Given the description of an element on the screen output the (x, y) to click on. 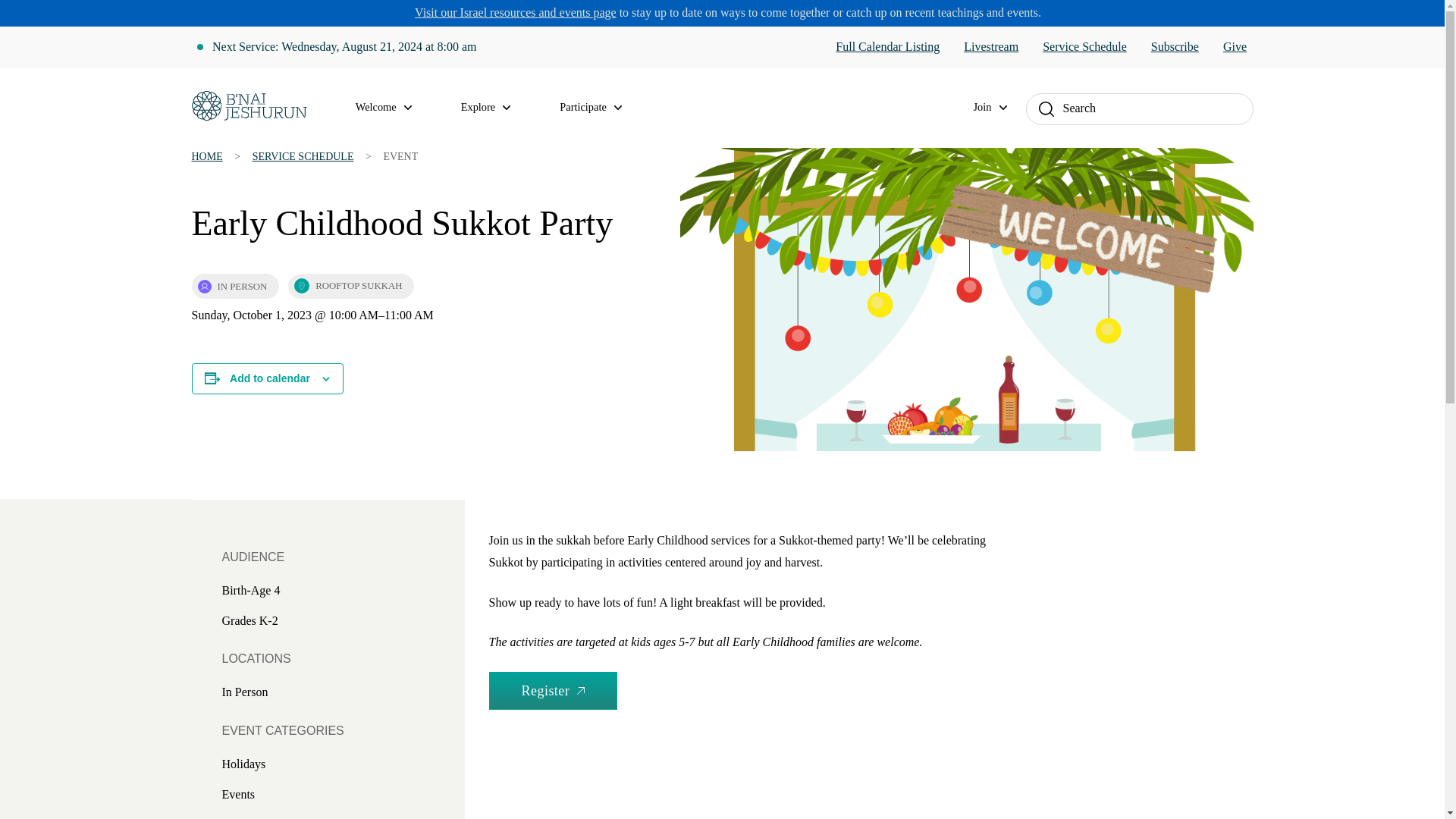
Full Calendar Listing (887, 47)
Service Schedule (1084, 47)
Livestream (990, 47)
Visit our Israel resources and events page (514, 12)
Next Service: Wednesday, August 21, 2024 at 8:00 am (344, 47)
Give (1234, 47)
Participate (599, 107)
Welcome (392, 107)
Subscribe (1174, 47)
